Given the description of an element on the screen output the (x, y) to click on. 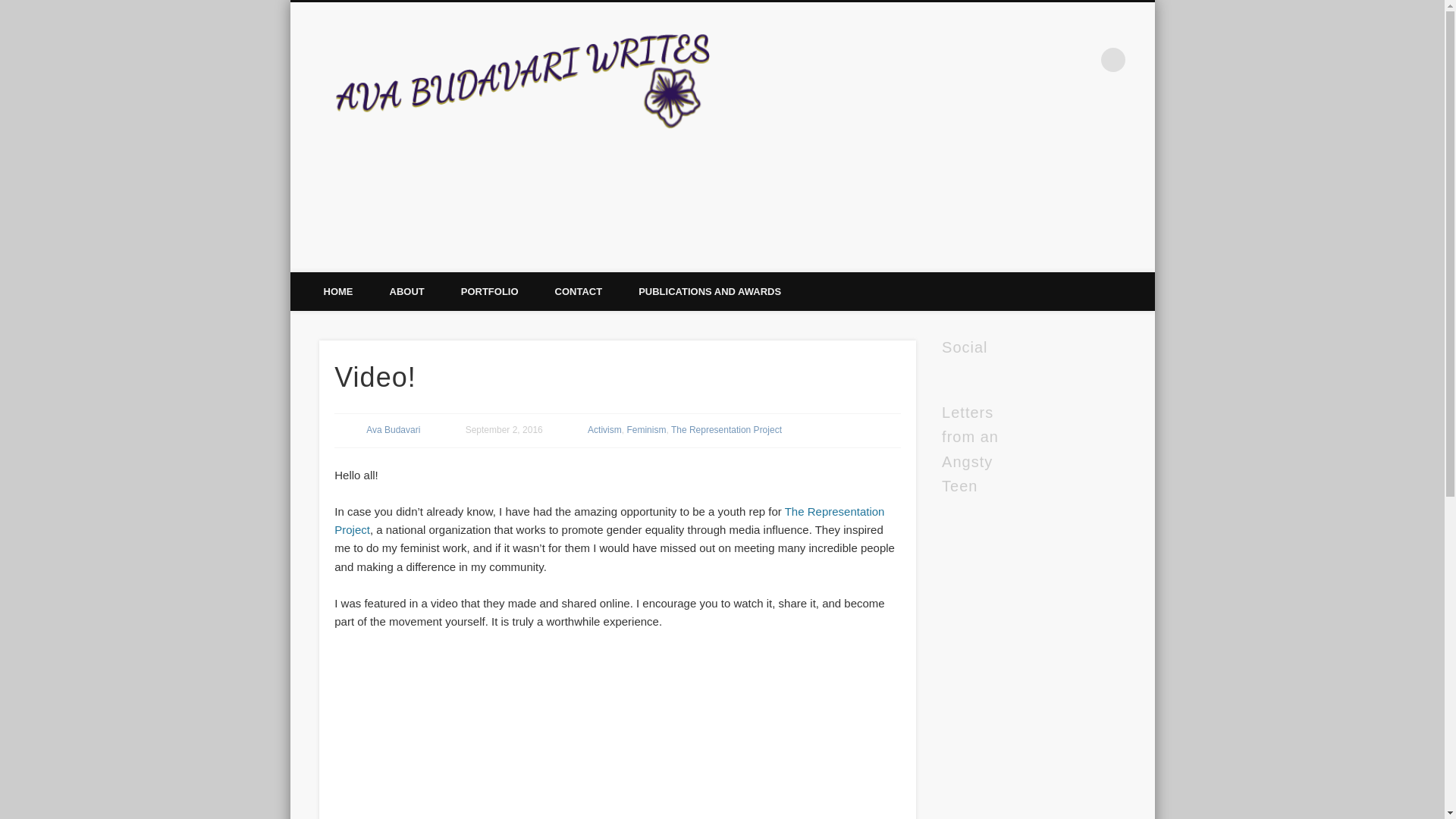
Search (11, 7)
PORTFOLIO (489, 291)
PUBLICATIONS AND AWARDS (709, 291)
ABOUT (406, 291)
The Representation Project (726, 429)
HOME (337, 291)
Feminism (645, 429)
The Representation Project (608, 520)
Ava Budavari (393, 429)
Posts by Ava Budavari (393, 429)
Activism (604, 429)
CONTACT (579, 291)
